Given the description of an element on the screen output the (x, y) to click on. 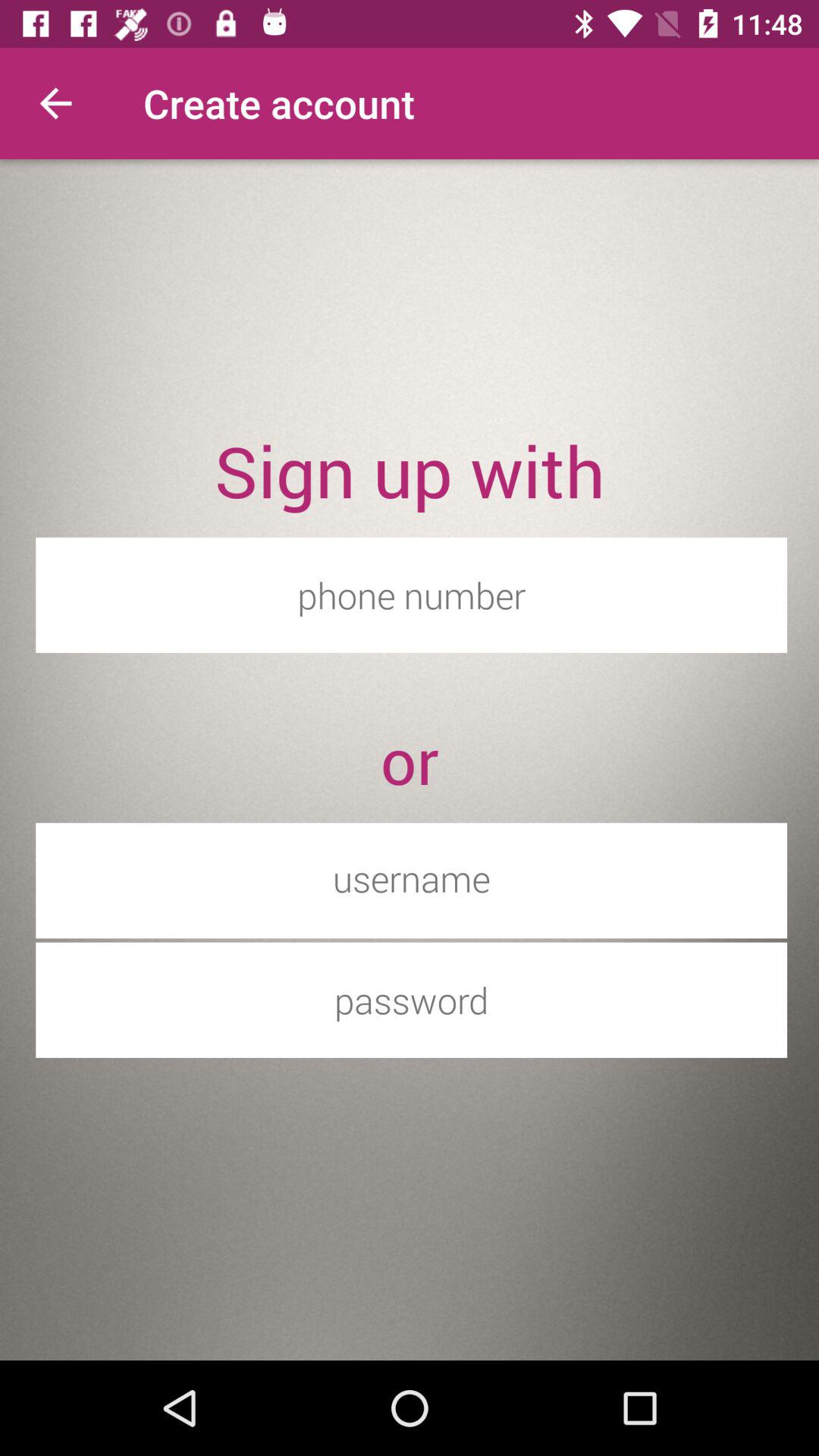
choose the item at the top left corner (55, 103)
